Given the description of an element on the screen output the (x, y) to click on. 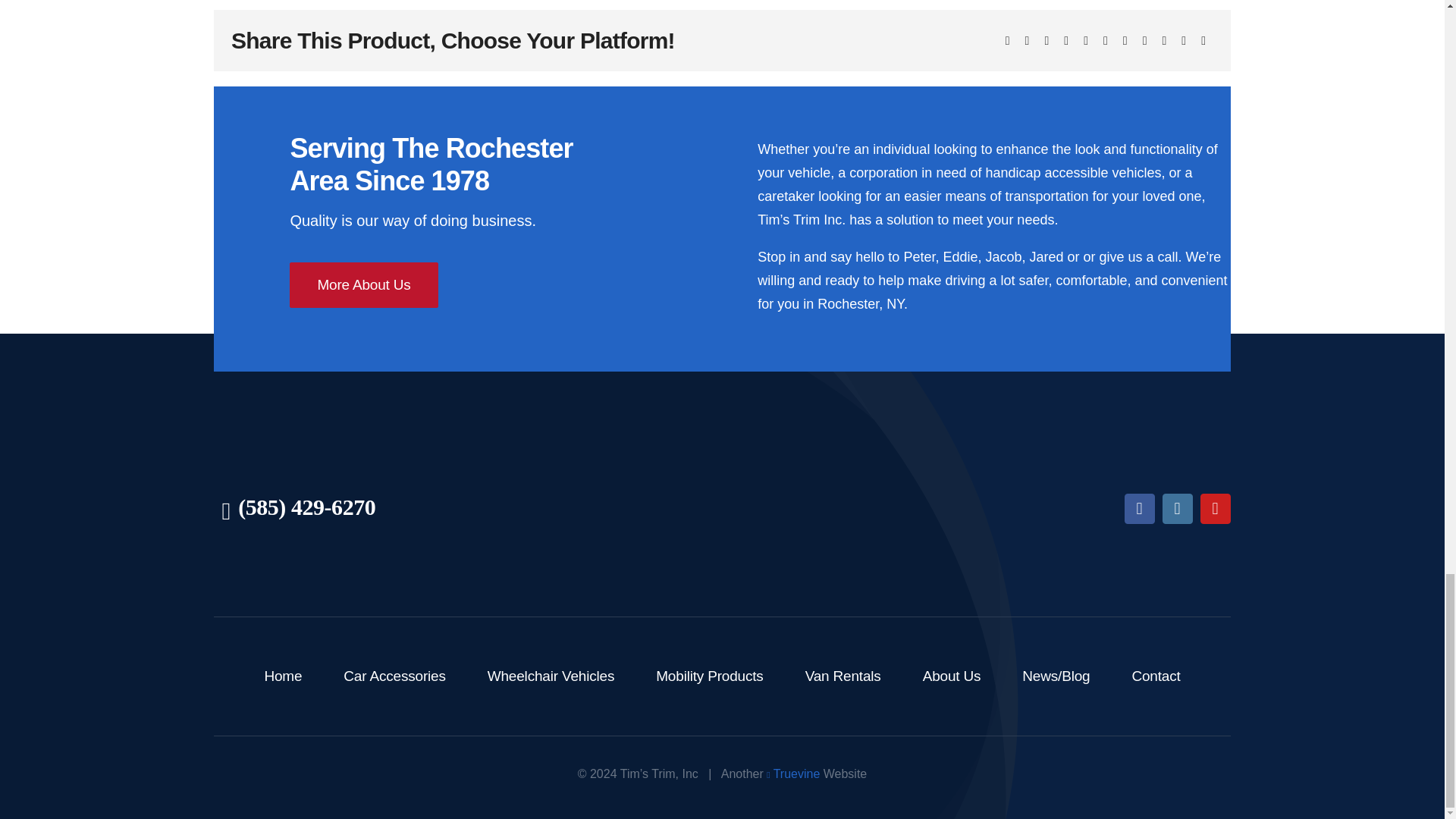
Facebook (1007, 40)
X (1026, 40)
LinkedIn (1066, 40)
Telegram (1105, 40)
Xing (1183, 40)
Reddit (1046, 40)
Vk (1164, 40)
Pinterest (1144, 40)
Tumblr (1125, 40)
WhatsApp (1085, 40)
